Given the description of an element on the screen output the (x, y) to click on. 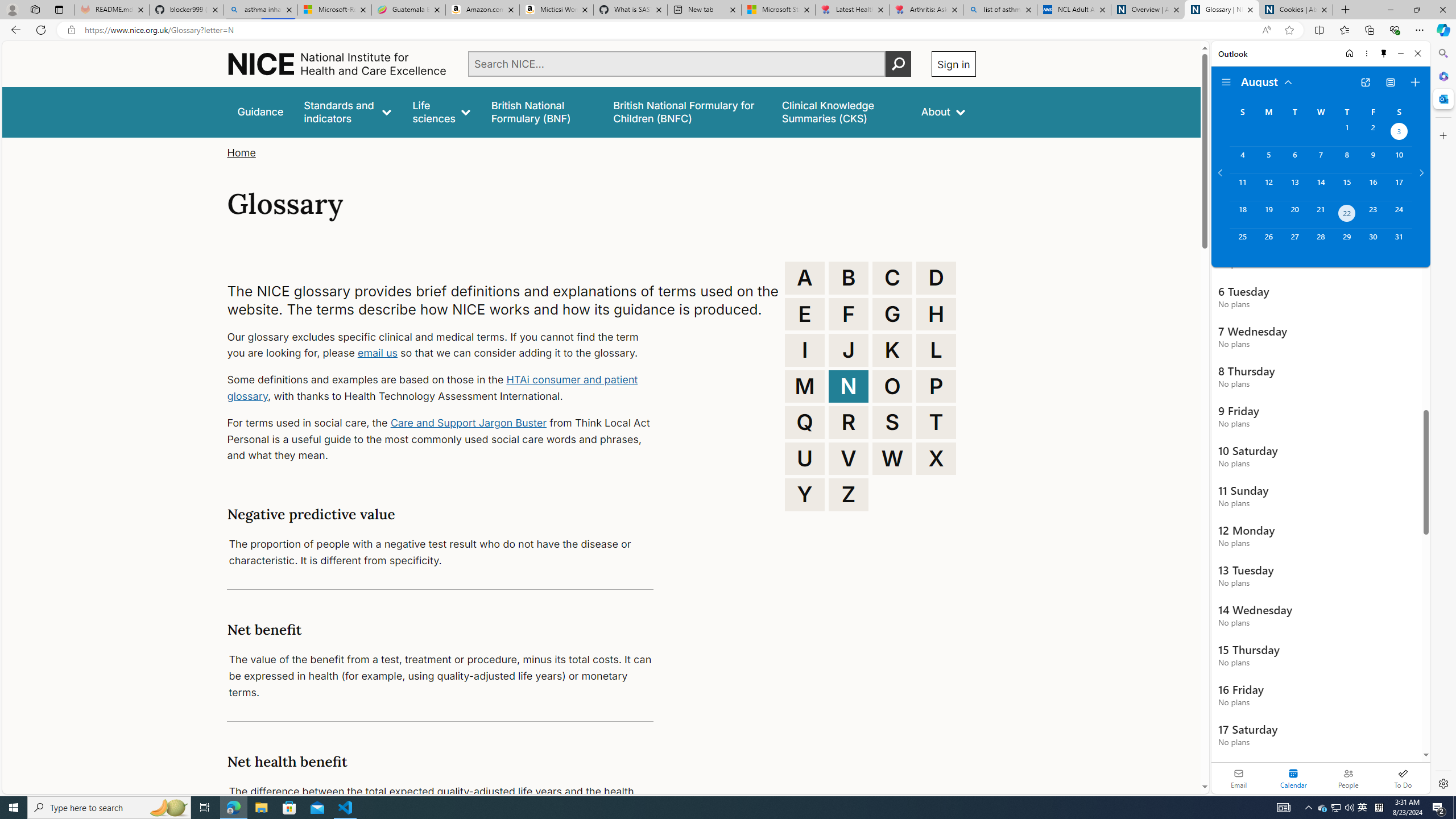
Workspaces (34, 9)
Microsoft 365 (1442, 76)
K (892, 350)
HTAi consumer and patient glossary (432, 387)
Thursday, August 29, 2024.  (1346, 241)
Side bar (1443, 418)
Settings and more (Alt+F) (1419, 29)
Sunday, August 11, 2024.  (1242, 186)
L (935, 350)
O (892, 385)
Z (848, 494)
Tab actions menu (58, 9)
Care and Support Jargon Buster (468, 422)
